Given the description of an element on the screen output the (x, y) to click on. 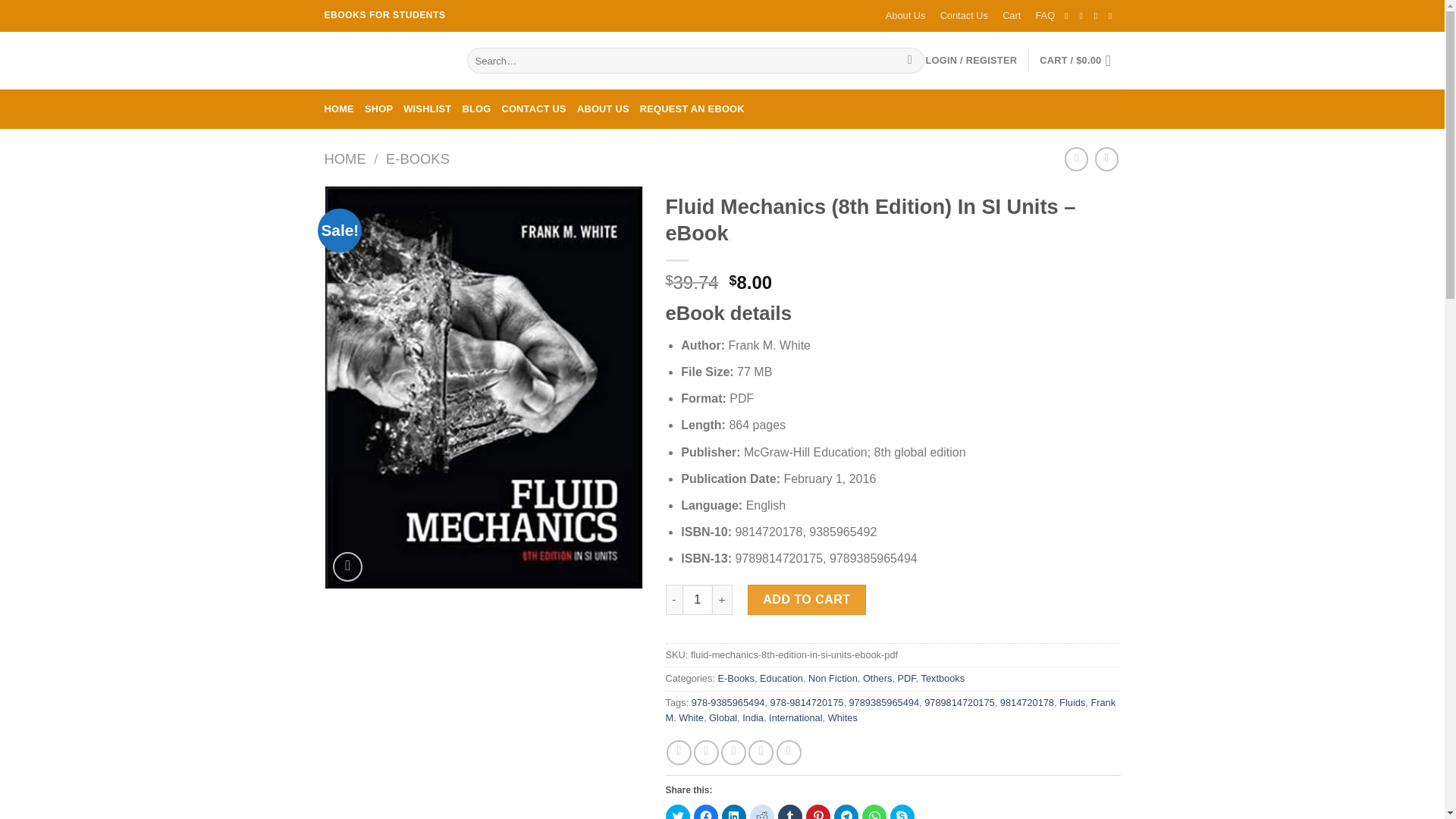
REQUEST AN EBOOK (692, 108)
Click to share on Twitter (677, 811)
FAQ (1044, 15)
Click to share on LinkedIn (733, 811)
Education (781, 677)
Click to share on Tumblr (789, 811)
ABOUT US (602, 108)
WISHLIST (427, 108)
Click to share on Facebook (705, 811)
HOME (345, 158)
